Given the description of an element on the screen output the (x, y) to click on. 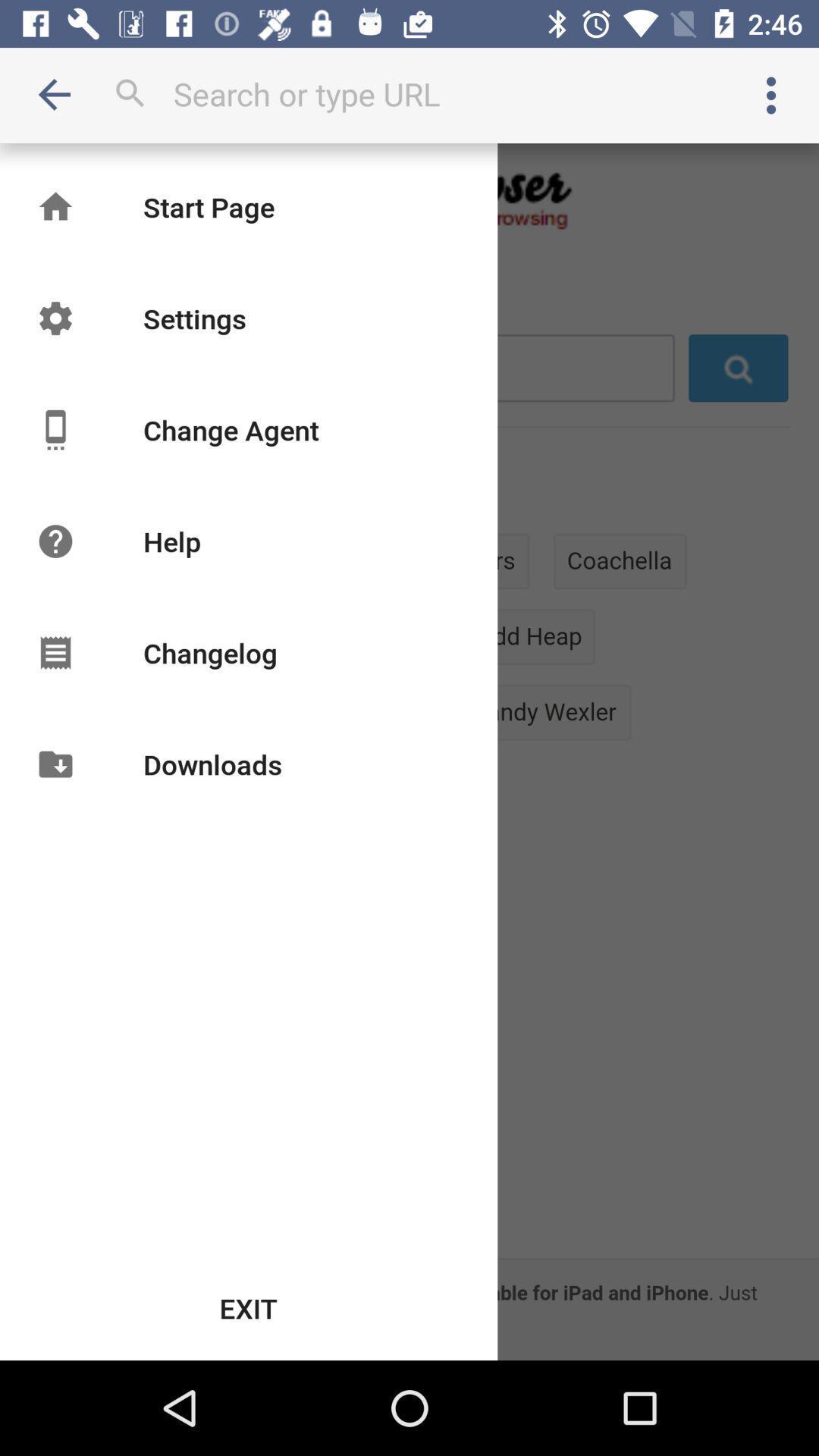
jump to the changelog (210, 652)
